Given the description of an element on the screen output the (x, y) to click on. 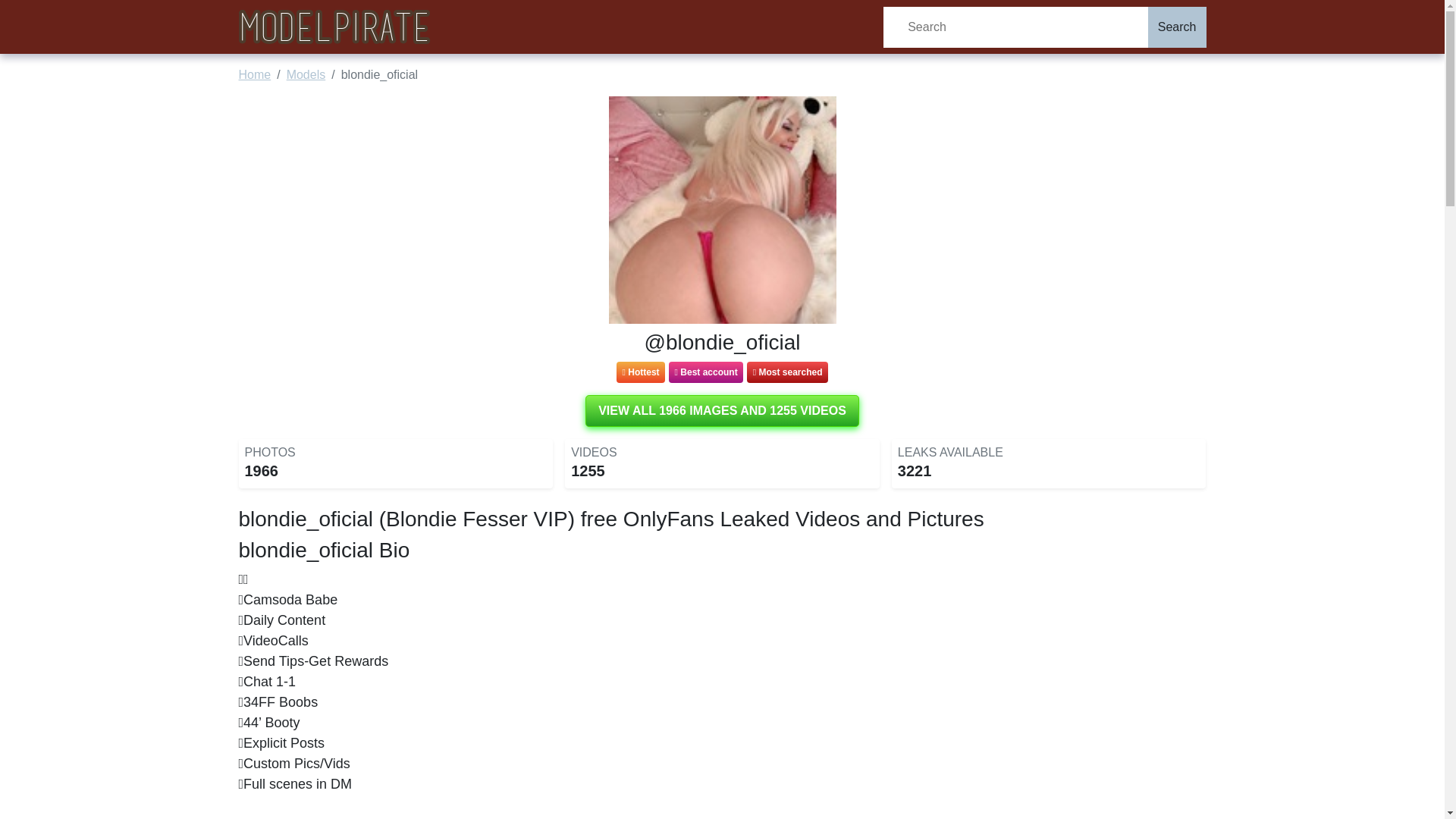
Models (306, 74)
Home (254, 74)
Search (1177, 25)
VIEW ALL 1966 IMAGES AND 1255 VIDEOS (722, 410)
